Given the description of an element on the screen output the (x, y) to click on. 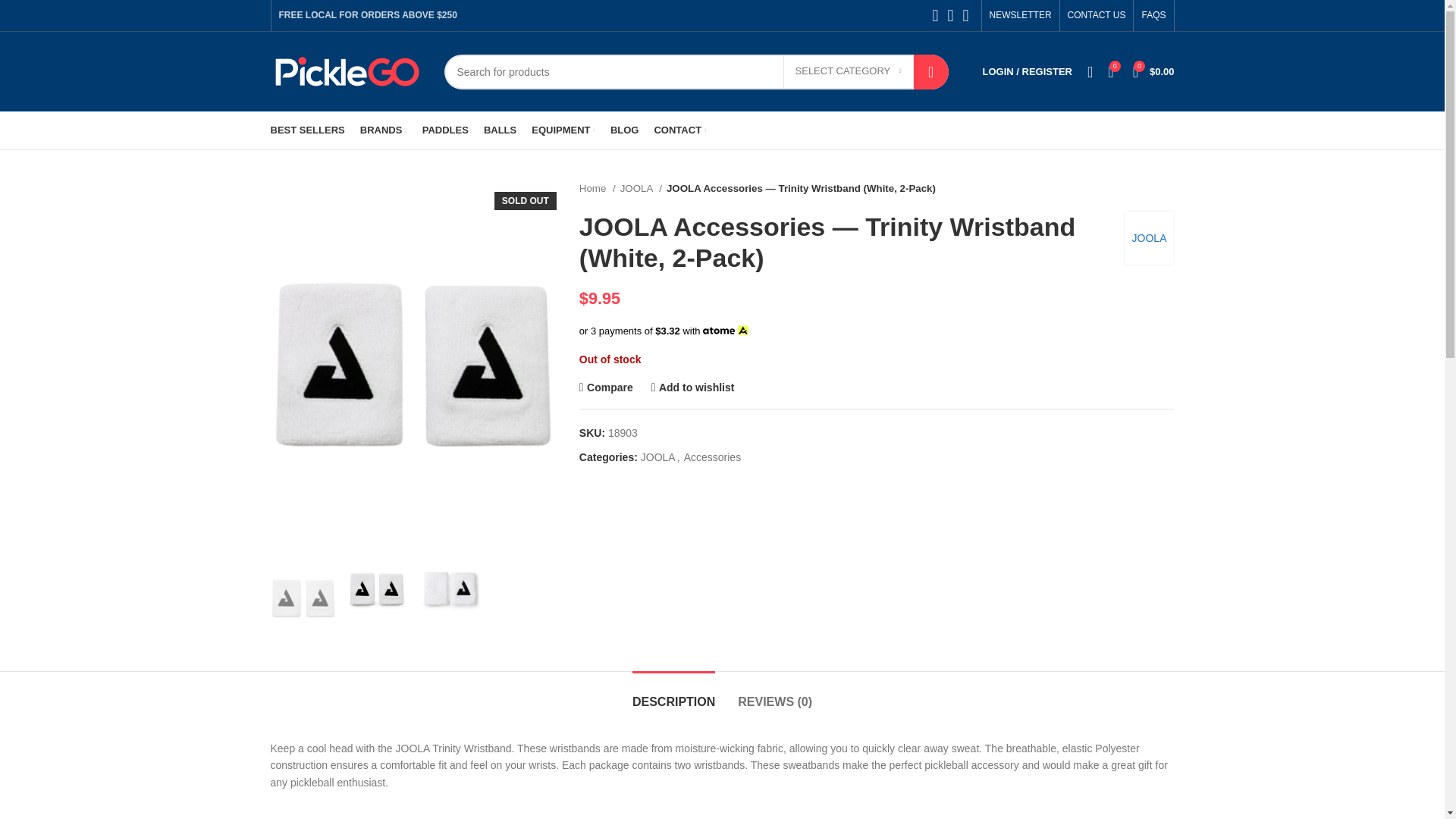
BRANDS (383, 130)
My Wishlist (1090, 71)
SELECT CATEGORY (848, 71)
CONTACT US (1096, 15)
Compare products (1110, 71)
0 (1110, 71)
BEST SELLERS (306, 130)
NEWSLETTER (1020, 15)
Shopping cart (1153, 71)
My account (1027, 71)
Search for products (696, 71)
SEARCH (931, 71)
SELECT CATEGORY (848, 71)
FAQS (1153, 15)
